Given the description of an element on the screen output the (x, y) to click on. 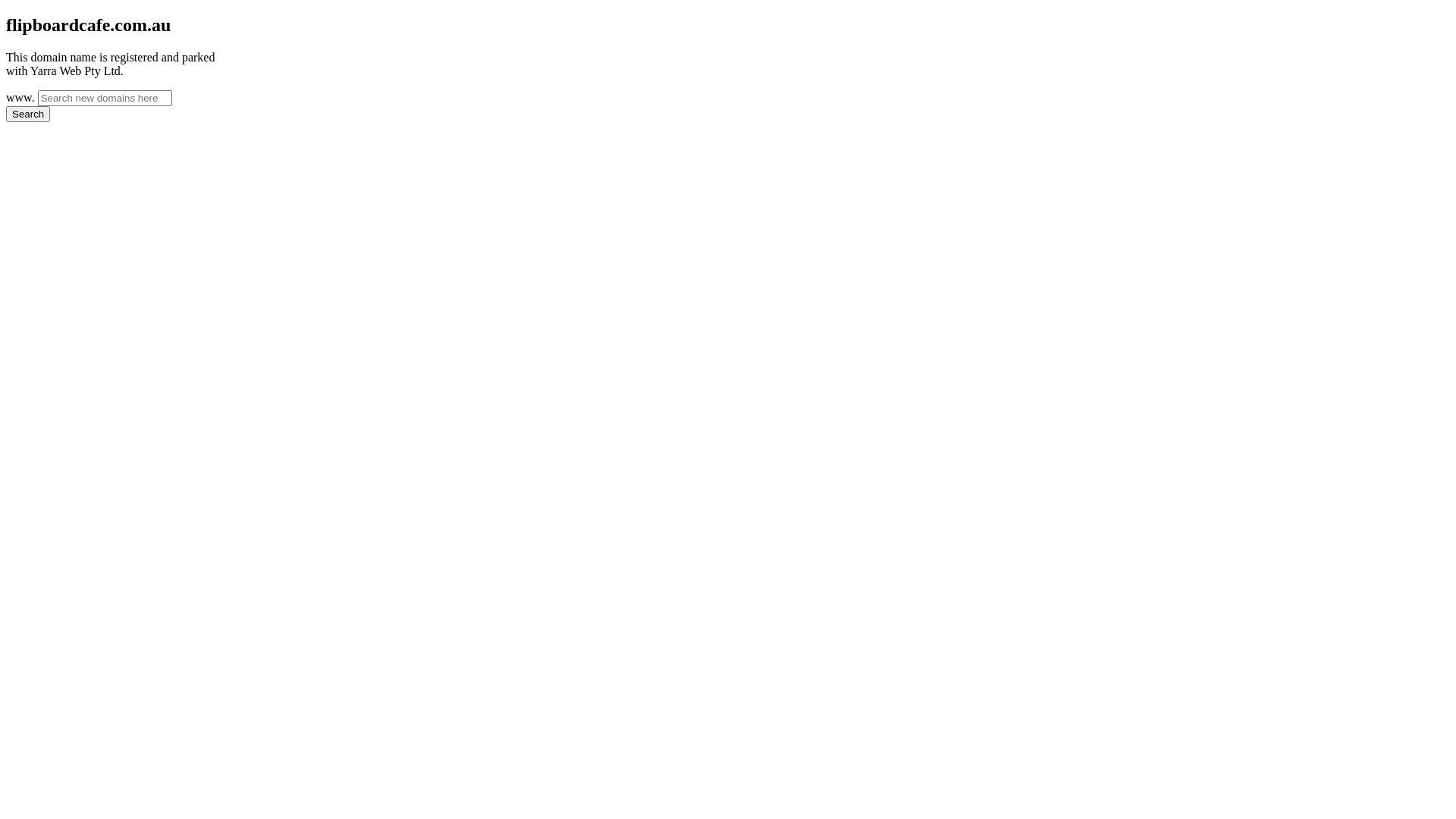
Search Element type: text (28, 114)
